Given the description of an element on the screen output the (x, y) to click on. 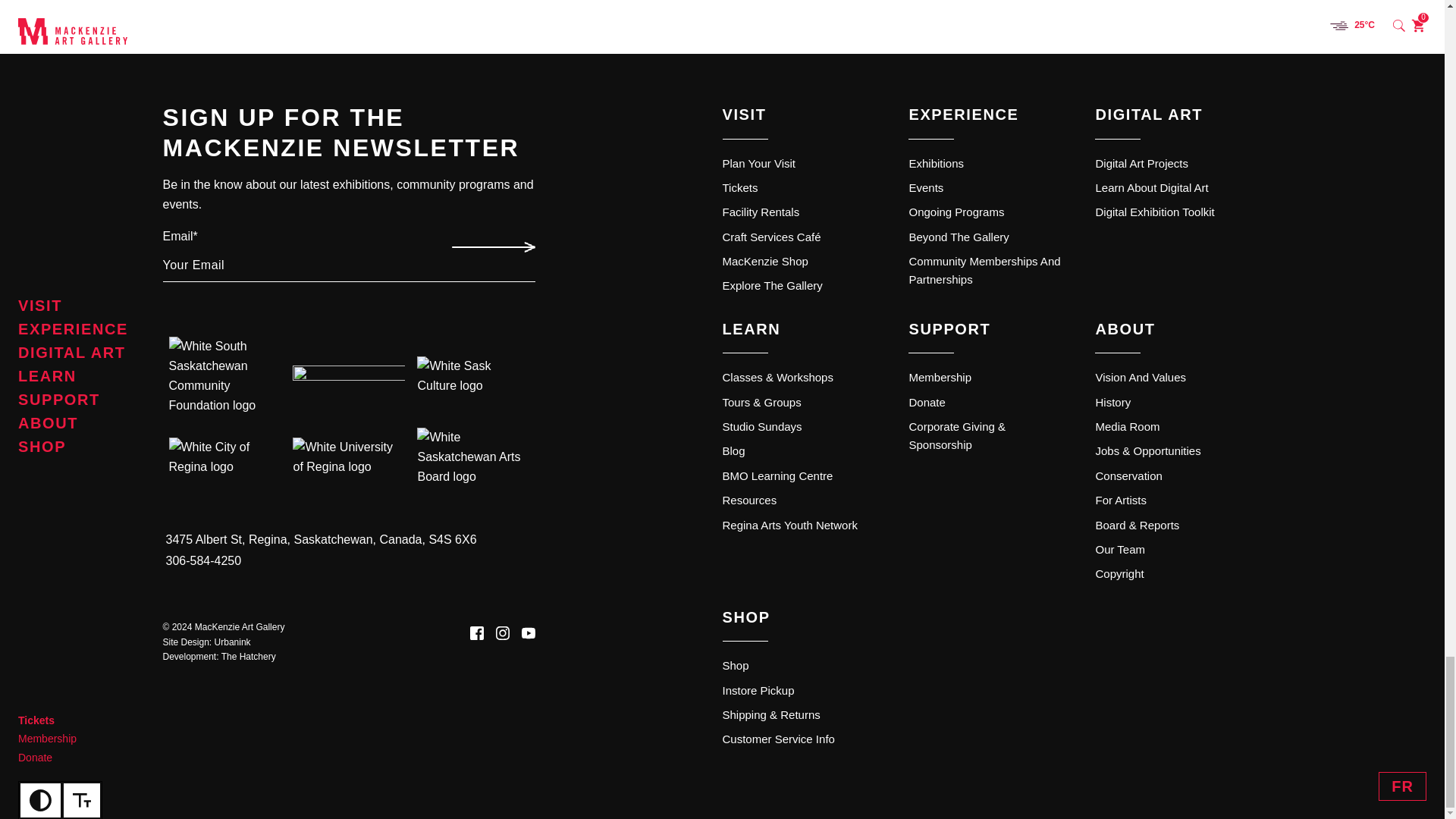
Submit (491, 246)
